Given the description of an element on the screen output the (x, y) to click on. 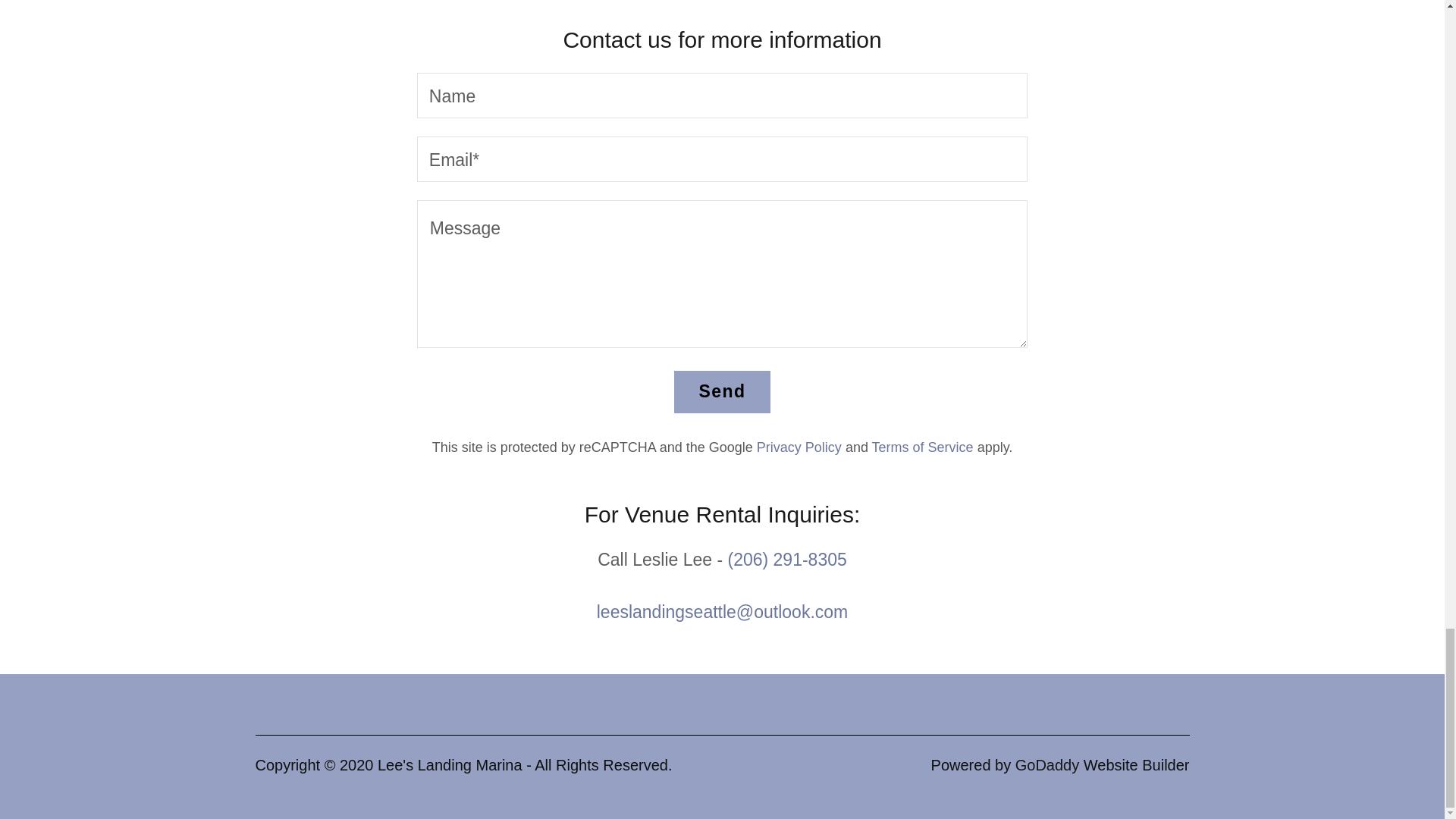
Send (722, 392)
Terms of Service (923, 447)
Privacy Policy (799, 447)
GoDaddy (1047, 764)
